Given the description of an element on the screen output the (x, y) to click on. 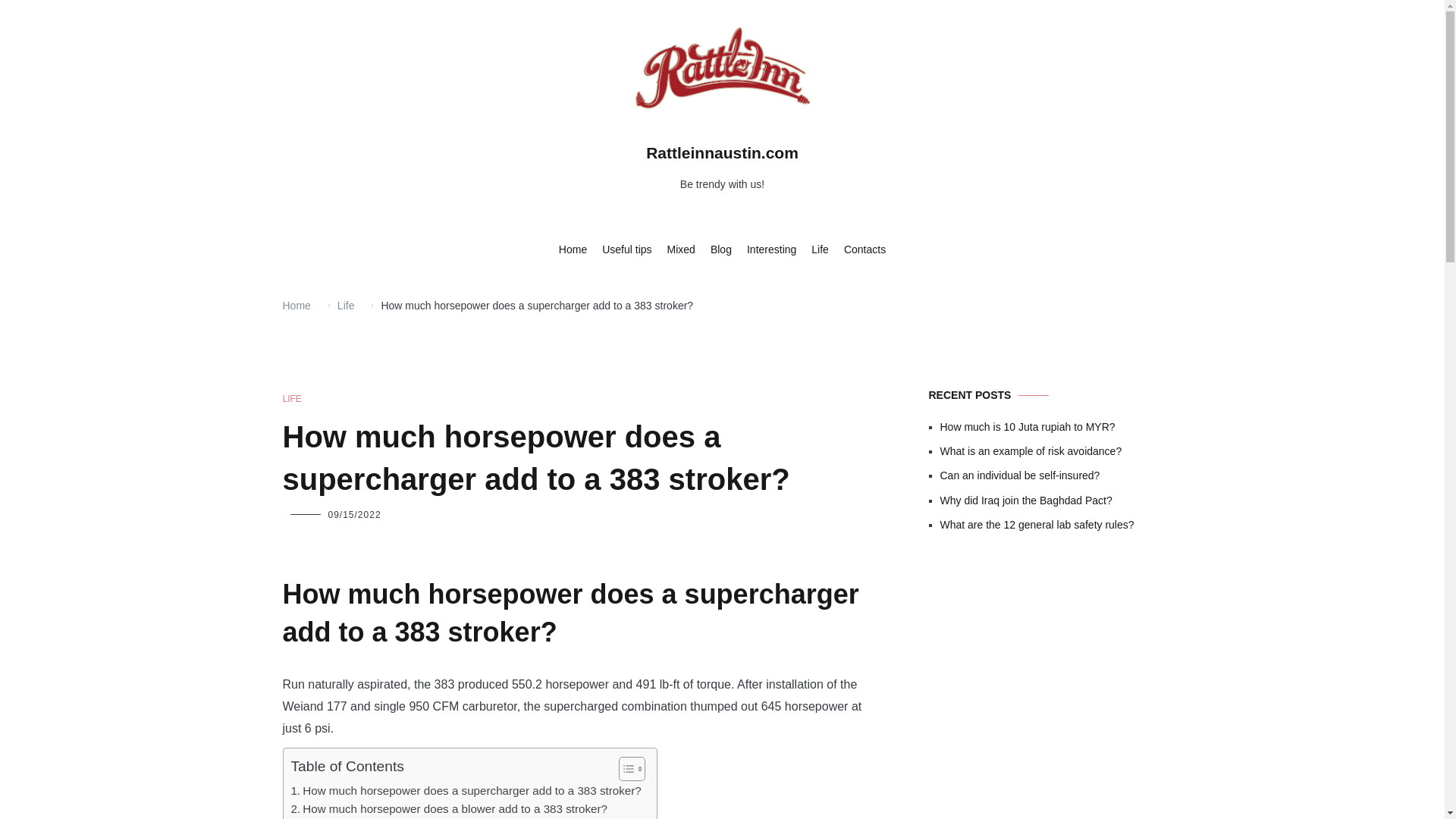
How much horsepower does a blower add to a 383 stroker? (449, 809)
Interesting (771, 249)
LIFE (291, 399)
What is an example of risk avoidance? (1050, 451)
Life (346, 305)
How much horsepower does a blower add to a 383 stroker? (449, 809)
How much is 10 Juta rupiah to MYR? (1050, 426)
Contacts (864, 249)
Home (296, 305)
